Given the description of an element on the screen output the (x, y) to click on. 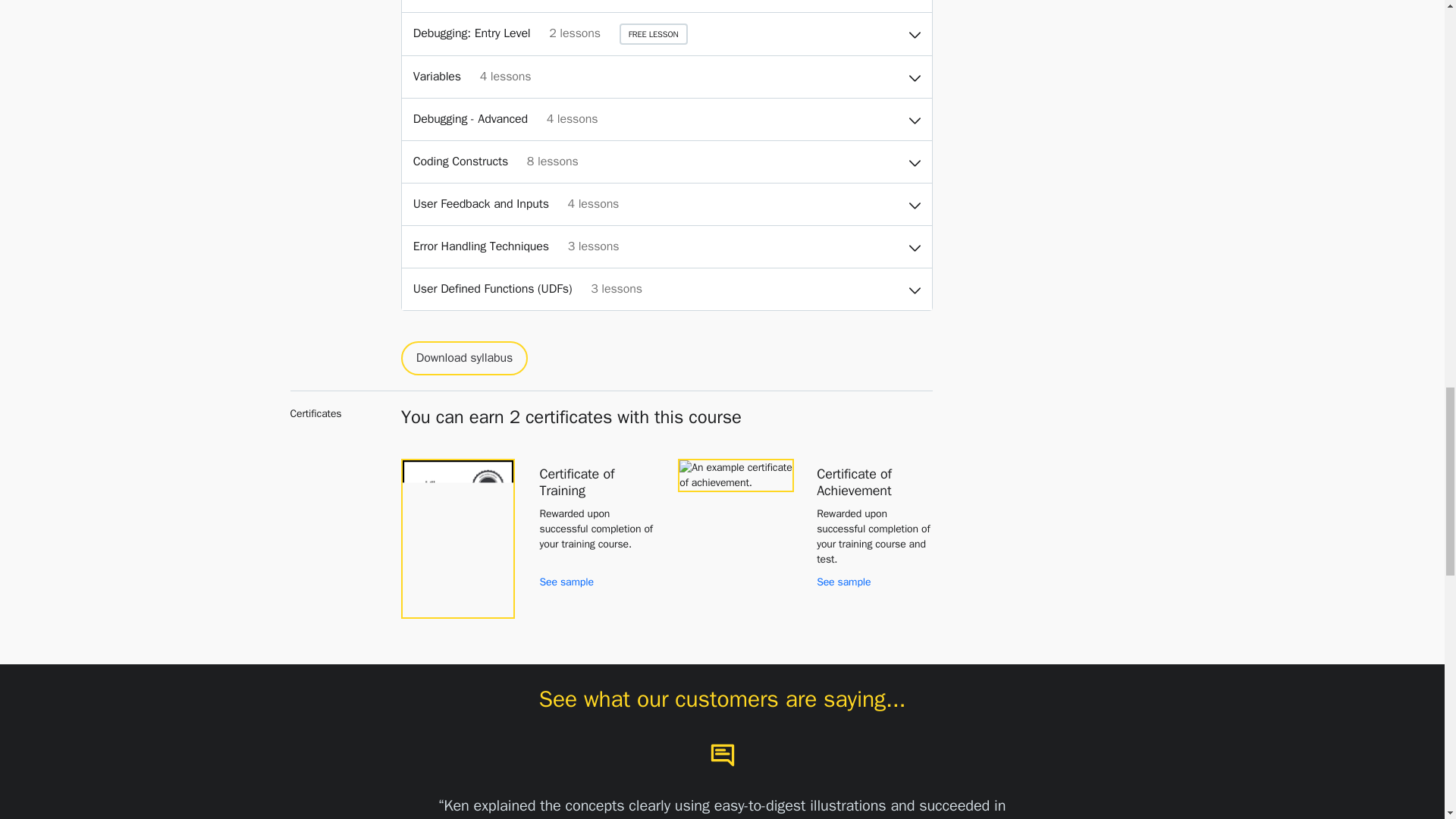
See sample (567, 581)
Download syllabus (464, 358)
See sample (843, 581)
